Given the description of an element on the screen output the (x, y) to click on. 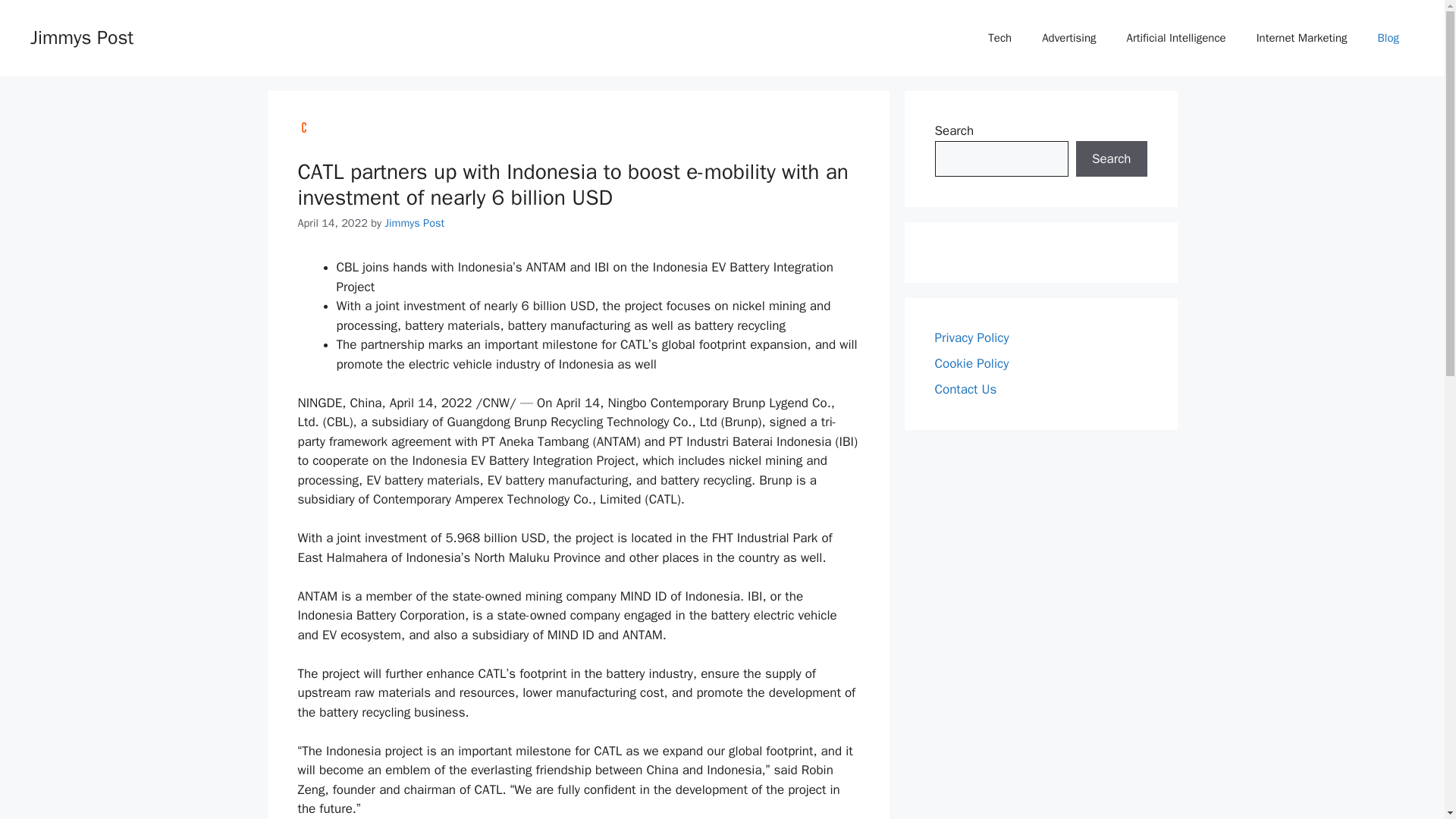
Contact Us (964, 389)
View all posts by Jimmys Post (414, 223)
Tech (999, 37)
Internet Marketing (1301, 37)
Blog (1387, 37)
Artificial Intelligence (1176, 37)
Privacy Policy (971, 337)
Advertising (1068, 37)
Cookie Policy (971, 363)
Search (1111, 158)
